Given the description of an element on the screen output the (x, y) to click on. 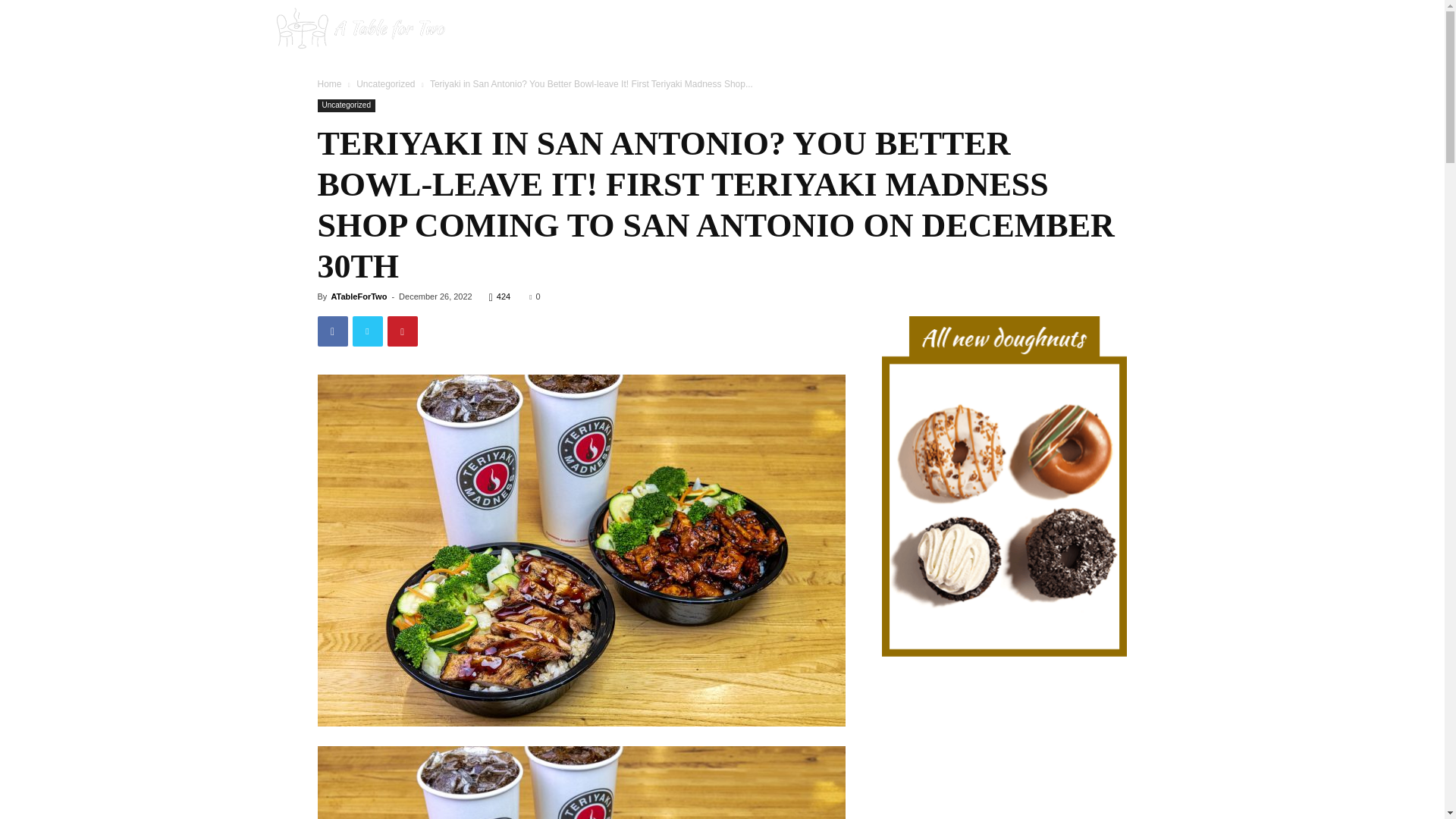
View all posts in Uncategorized (385, 83)
0 (534, 296)
BLOG (978, 30)
Home (328, 83)
Atablefortwo.com.au (358, 30)
Uncategorized (385, 83)
Uncategorized (345, 105)
HOME (909, 30)
ATableForTwo (358, 296)
ABOUT (1051, 30)
